Given the description of an element on the screen output the (x, y) to click on. 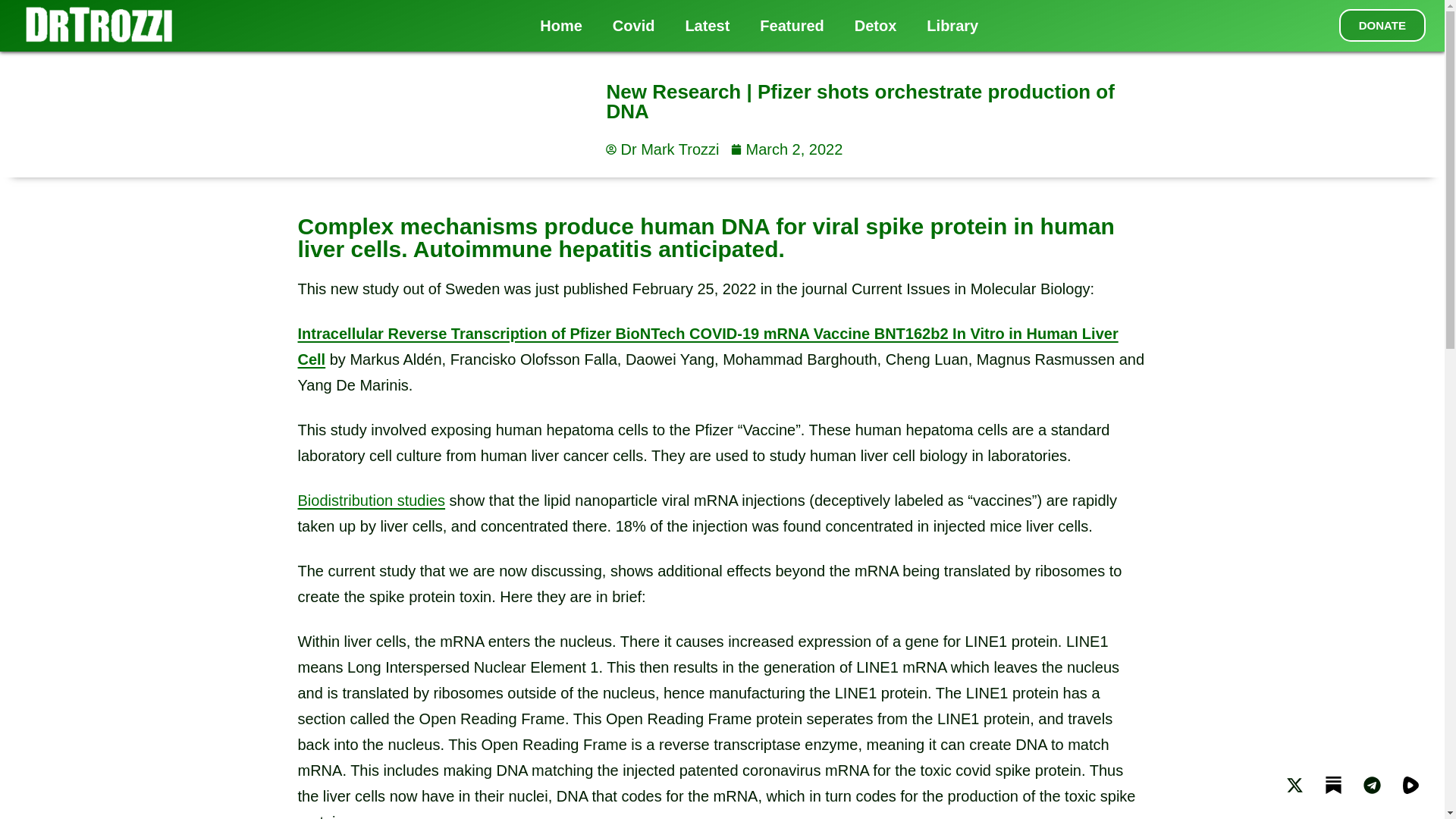
Home (560, 25)
Covid (632, 25)
DONATE (1382, 25)
Biodistribution studies (371, 500)
Latest (706, 25)
Featured (791, 25)
Detox (876, 25)
March 2, 2022 (786, 149)
Dr Mark Trozzi (662, 149)
Library (951, 25)
